Given the description of an element on the screen output the (x, y) to click on. 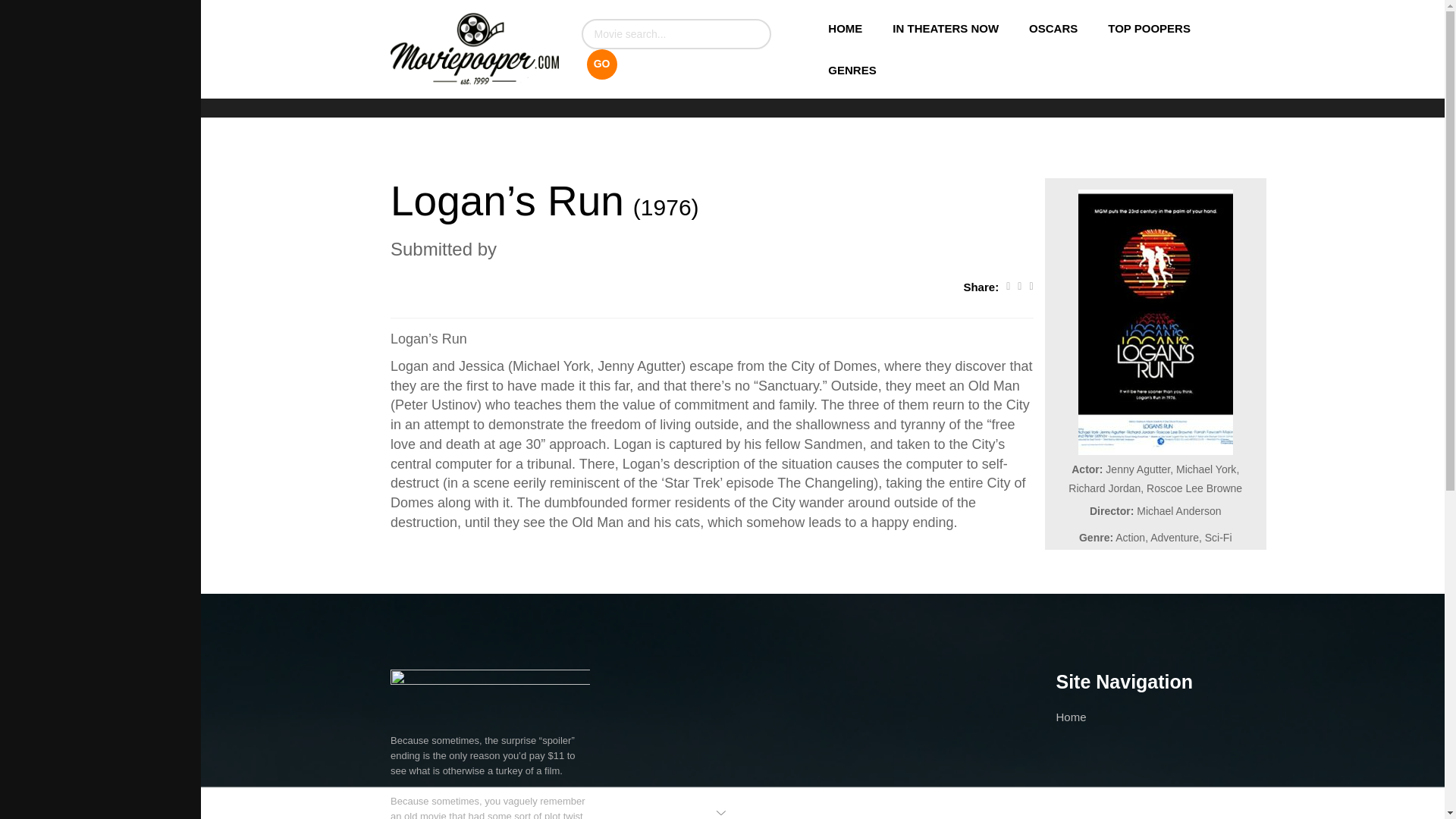
GENRES (844, 69)
Ad.Plus Advertising (722, 811)
OSCARS (1053, 28)
TOP POOPERS (1149, 28)
Submitted by (711, 249)
Go (601, 64)
HOME (844, 28)
IN THEATERS NOW (945, 28)
Go (601, 64)
